Given the description of an element on the screen output the (x, y) to click on. 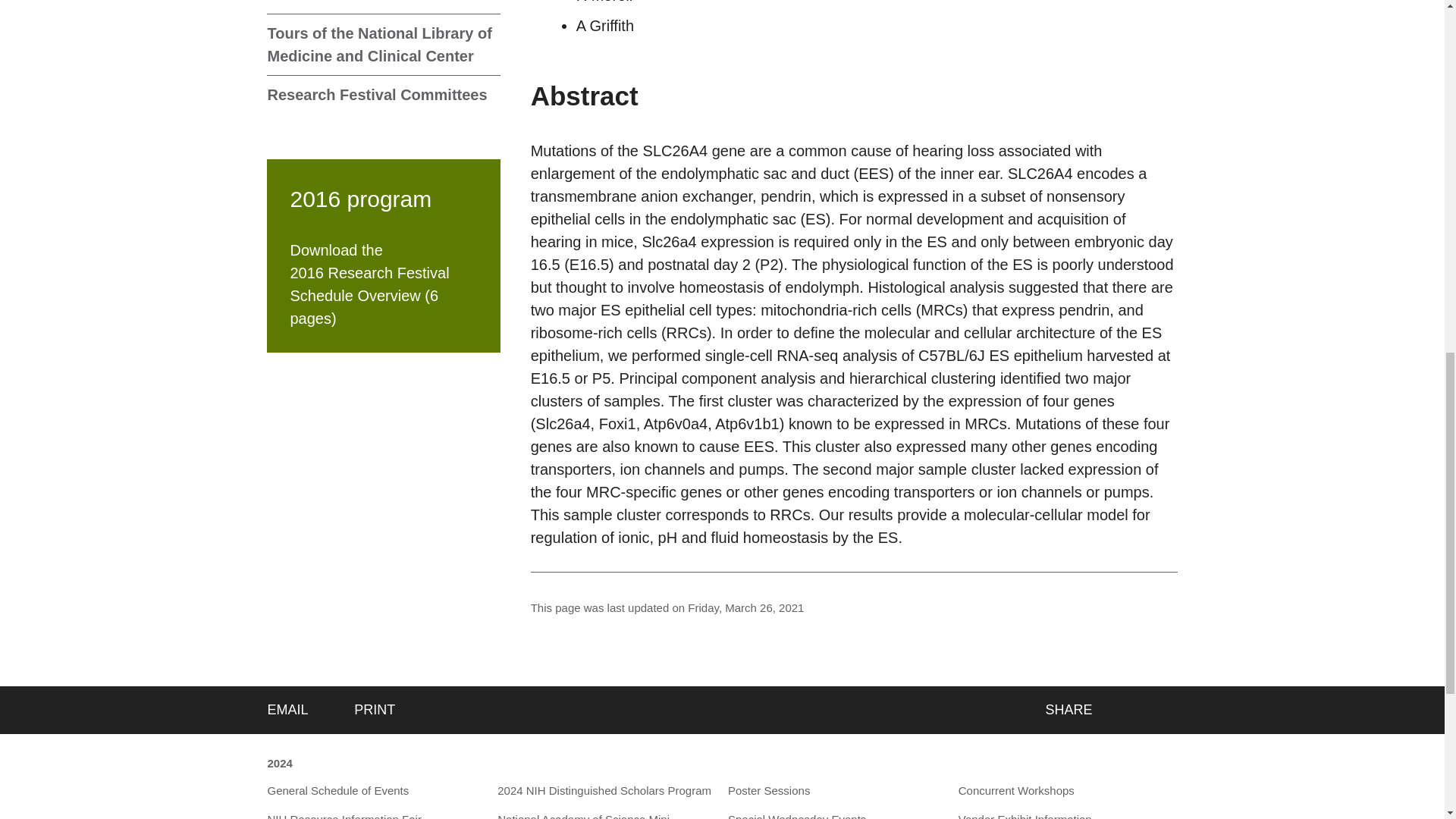
National Academy of Science Mini-Symposium  (606, 815)
Special Wednesday Events (797, 815)
2024 NIH Distinguished Scholars Program (604, 791)
Concurrent Workshops (1016, 791)
2024 NIH Research Festival (279, 764)
